Given the description of an element on the screen output the (x, y) to click on. 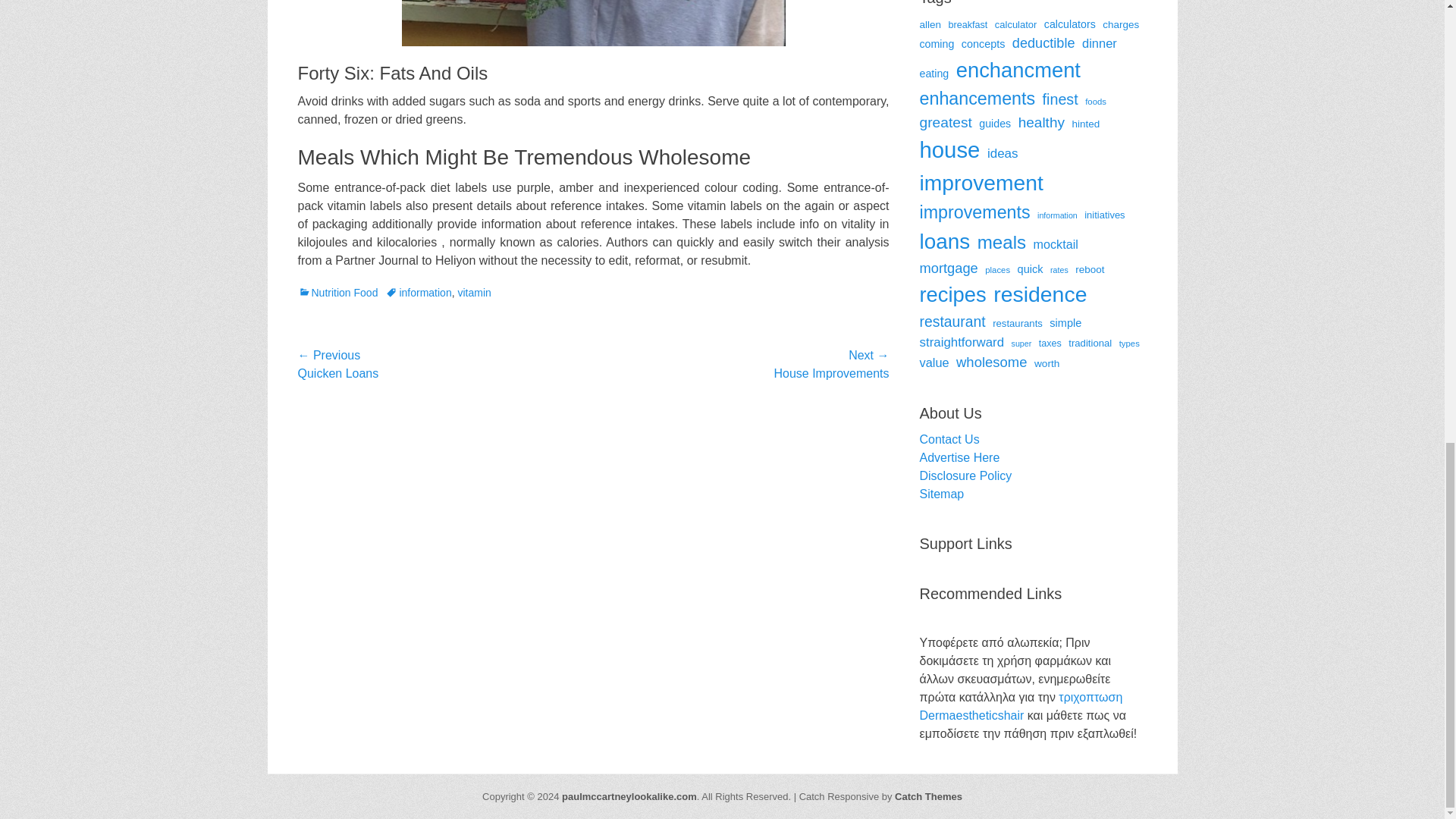
vitamin (473, 292)
information (418, 292)
Nutrition Food (337, 292)
